Given the description of an element on the screen output the (x, y) to click on. 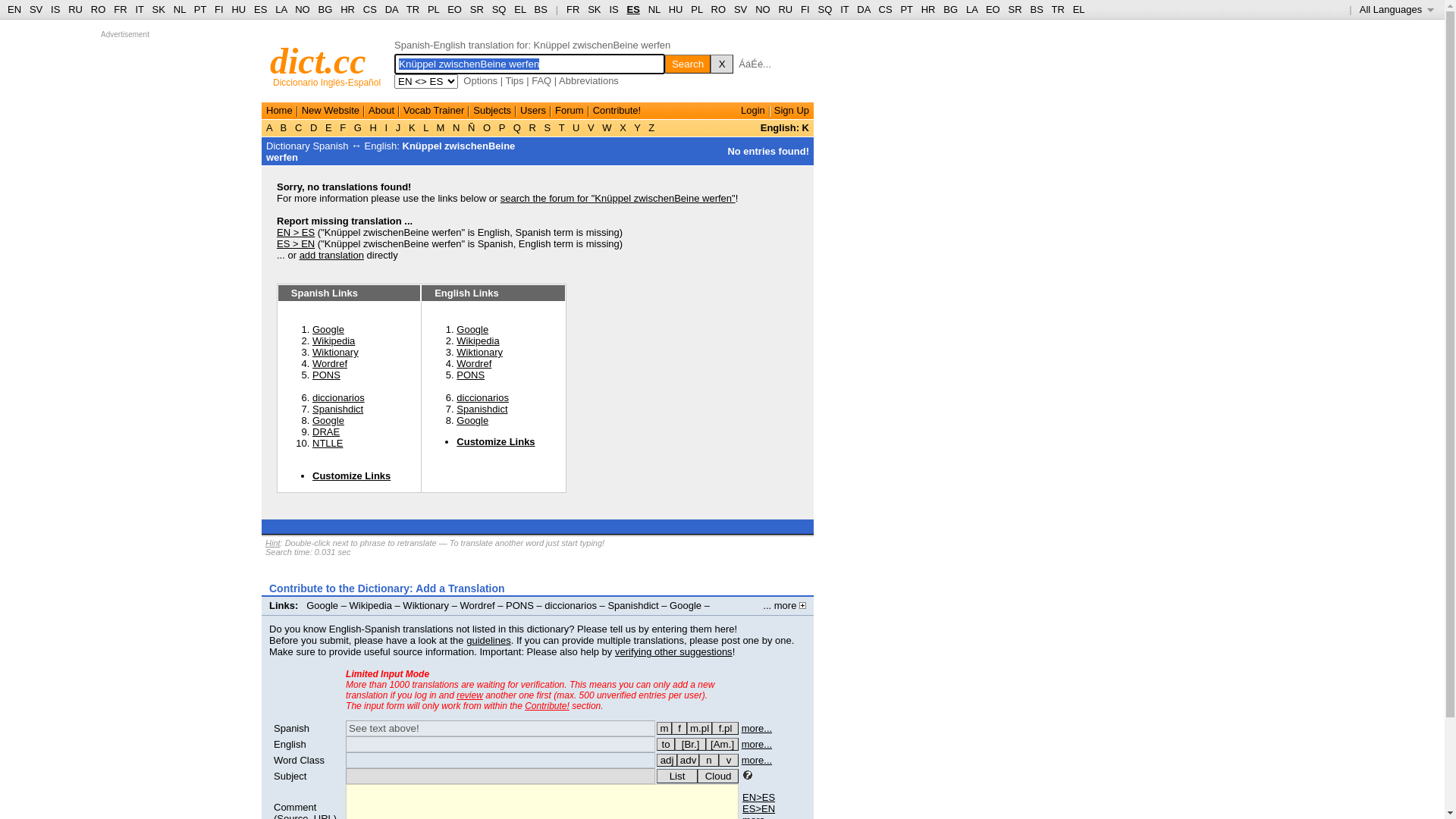
NO Element type: text (762, 9)
masculino plural Element type: hover (699, 727)
BG Element type: text (950, 9)
RO Element type: text (98, 9)
C Element type: text (297, 127)
adj Element type: text (666, 759)
add translation Element type: text (331, 254)
N Element type: text (455, 127)
TR Element type: text (1057, 9)
diccionarios Element type: text (338, 397)
Q Element type: text (516, 127)
Contribute! Element type: text (617, 110)
Google Element type: text (328, 329)
X Element type: text (623, 127)
Vocab Trainer Element type: text (433, 110)
Tips Element type: text (514, 80)
P Element type: text (501, 127)
EN>ES Element type: text (758, 797)
Options Element type: text (480, 80)
FI Element type: text (218, 9)
X Element type: text (721, 63)
masculino Element type: hover (663, 727)
Wikipedia Element type: text (477, 340)
SR Element type: text (476, 9)
PONS Element type: text (470, 374)
V Element type: text (590, 127)
T Element type: text (561, 127)
IS Element type: text (613, 9)
f Element type: text (679, 727)
DA Element type: text (862, 9)
adv Element type: text (688, 759)
Customize Links Element type: text (351, 475)
Google Element type: text (322, 605)
J Element type: text (397, 127)
DA Element type: text (391, 9)
femenino Element type: hover (679, 727)
S Element type: text (547, 127)
SQ Element type: text (499, 9)
Spanishdict Element type: text (337, 408)
Y Element type: text (637, 127)
I Element type: text (386, 127)
FI Element type: text (804, 9)
SK Element type: text (593, 9)
Cloud Element type: text (717, 775)
D Element type: text (313, 127)
Customize Links Element type: text (308, 616)
K Element type: text (411, 127)
Dictionary Element type: text (288, 145)
Home Element type: text (279, 110)
F Element type: text (342, 127)
more... Element type: text (756, 728)
Spanish Element type: text (291, 728)
NL Element type: text (654, 9)
Hint Element type: text (272, 542)
NO Element type: text (302, 9)
femenino plural Element type: hover (725, 727)
PL Element type: text (433, 9)
EN > ES Element type: text (295, 232)
Wordref Element type: text (477, 605)
guidelines Element type: text (488, 640)
for verbs Element type: hover (665, 743)
Sign Up Element type: text (791, 110)
Contribute! Element type: text (546, 705)
R Element type: text (532, 127)
... more Element type: text (784, 605)
CS Element type: text (884, 9)
m.pl Element type: text (699, 727)
Google Element type: text (328, 420)
RU Element type: text (75, 9)
SV Element type: text (35, 9)
RO Element type: text (718, 9)
BG Element type: text (325, 9)
Contribute to the Dictionary: Add a Translation Element type: text (387, 588)
HU Element type: text (238, 9)
ES Element type: text (633, 9)
review Element type: text (469, 695)
FAQ Element type: text (541, 80)
PT Element type: text (200, 9)
verifying other suggestions Element type: text (673, 651)
FR Element type: text (119, 9)
Spanishdict Element type: text (481, 408)
Google Element type: text (472, 420)
All Languages  Element type: text (1396, 9)
IT Element type: text (844, 9)
ES > EN Element type: text (295, 243)
IS Element type: text (54, 9)
A Element type: text (270, 127)
v Element type: text (728, 759)
PL Element type: text (696, 9)
Wordref Element type: text (473, 363)
Wiktionary Element type: text (425, 605)
E Element type: text (328, 127)
Login Element type: text (752, 110)
Forum Element type: text (569, 110)
EO Element type: text (454, 9)
M Element type: text (440, 127)
NL Element type: text (179, 9)
PONS Element type: text (326, 374)
HU Element type: text (675, 9)
SQ Element type: text (824, 9)
Google Element type: text (472, 329)
Spanishdict Element type: text (632, 605)
EL Element type: text (1079, 9)
CS Element type: text (369, 9)
HR Element type: text (347, 9)
PT Element type: text (906, 9)
English: K Element type: text (784, 127)
Abbreviations Element type: text (588, 80)
B Element type: text (283, 127)
m Element type: text (663, 727)
to Element type: text (665, 743)
EN Element type: text (14, 9)
About Element type: text (381, 110)
NTLLE Element type: text (327, 442)
Search Element type: text (687, 63)
more... Element type: text (756, 743)
Wikipedia Element type: text (370, 605)
IT Element type: text (138, 9)
SR Element type: text (1015, 9)
Z Element type: text (651, 127)
SV Element type: text (740, 9)
English Element type: text (289, 743)
Subjects Element type: text (492, 110)
EO Element type: text (992, 9)
BS Element type: text (540, 9)
Customize Links Element type: text (495, 441)
Wiktionary Element type: text (335, 351)
G Element type: text (357, 127)
New Website Element type: text (330, 110)
Wikipedia Element type: text (333, 340)
U Element type: text (575, 127)
LA Element type: text (971, 9)
[Br.] Element type: text (690, 743)
HR Element type: text (928, 9)
dict.cc Element type: text (317, 60)
L Element type: text (425, 127)
diccionarios Element type: text (570, 605)
TR Element type: text (412, 9)
EL Element type: text (519, 9)
n Element type: text (708, 759)
Wordref Element type: text (329, 363)
RU Element type: text (785, 9)
SK Element type: text (158, 9)
(esp.) American English Element type: hover (722, 743)
(esp.) British English Element type: hover (690, 743)
H Element type: text (373, 127)
diccionarios Element type: text (482, 397)
O Element type: text (486, 127)
PONS Element type: text (519, 605)
Wiktionary Element type: text (479, 351)
DRAE Element type: text (325, 431)
LA Element type: text (280, 9)
FR Element type: text (572, 9)
Users Element type: text (533, 110)
[Am.] Element type: text (722, 743)
Google Element type: text (685, 605)
f.pl Element type: text (725, 727)
more... Element type: text (756, 759)
BS Element type: text (1035, 9)
ES>EN Element type: text (758, 808)
List Element type: text (676, 775)
W Element type: text (607, 127)
ES Element type: text (260, 9)
